Given the description of an element on the screen output the (x, y) to click on. 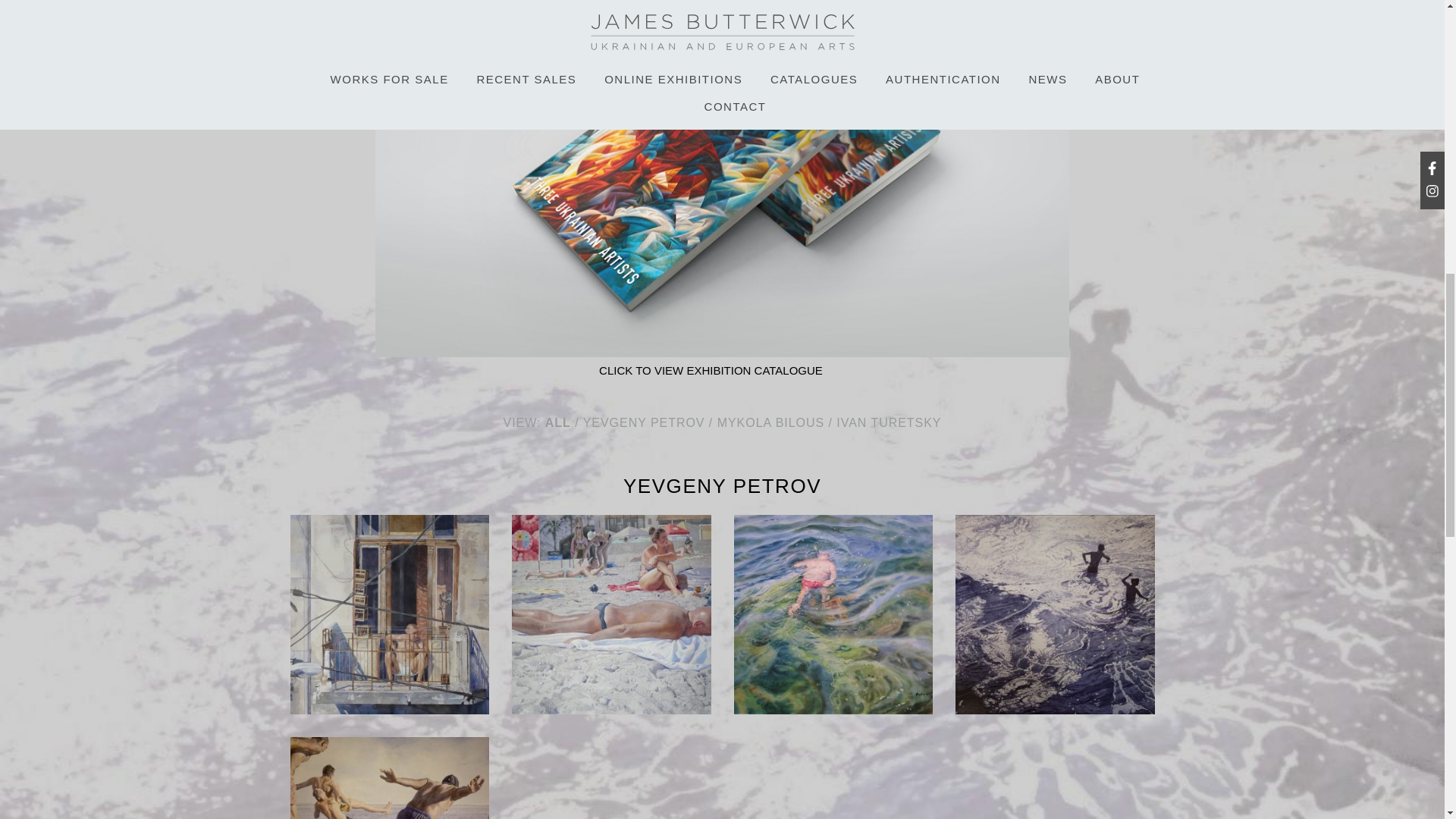
MYKOLA BILOUS (770, 422)
ALL (557, 422)
IVAN TURETSKY (887, 422)
YEVGENY PETROV (643, 422)
CLICK TO VIEW EXHIBITION CATALOGUE (710, 369)
